Given the description of an element on the screen output the (x, y) to click on. 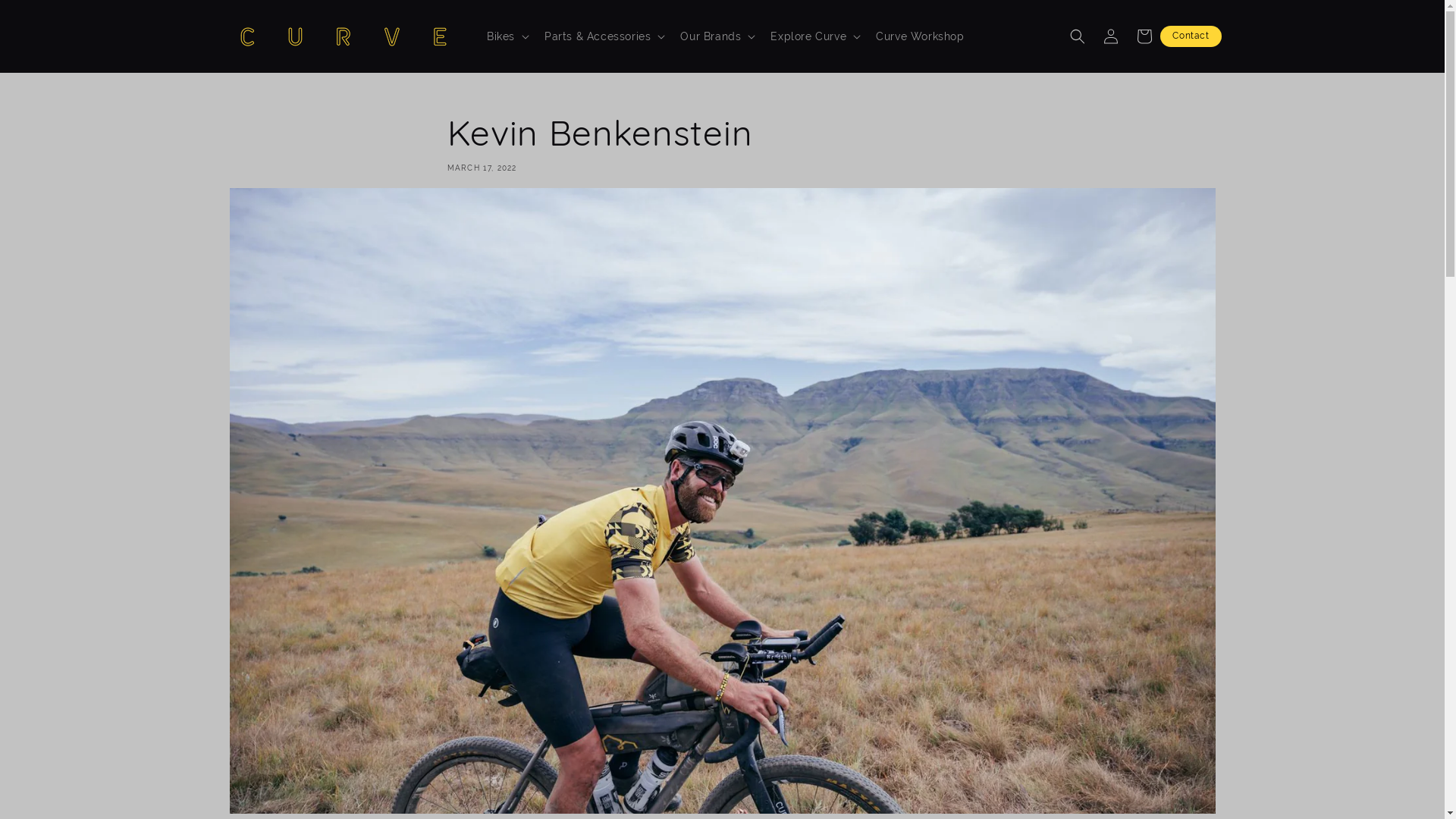
Curve Workshop Element type: text (919, 36)
Log in Element type: text (1109, 36)
Contact Element type: text (1190, 36)
Cart Element type: text (1143, 36)
